Given the description of an element on the screen output the (x, y) to click on. 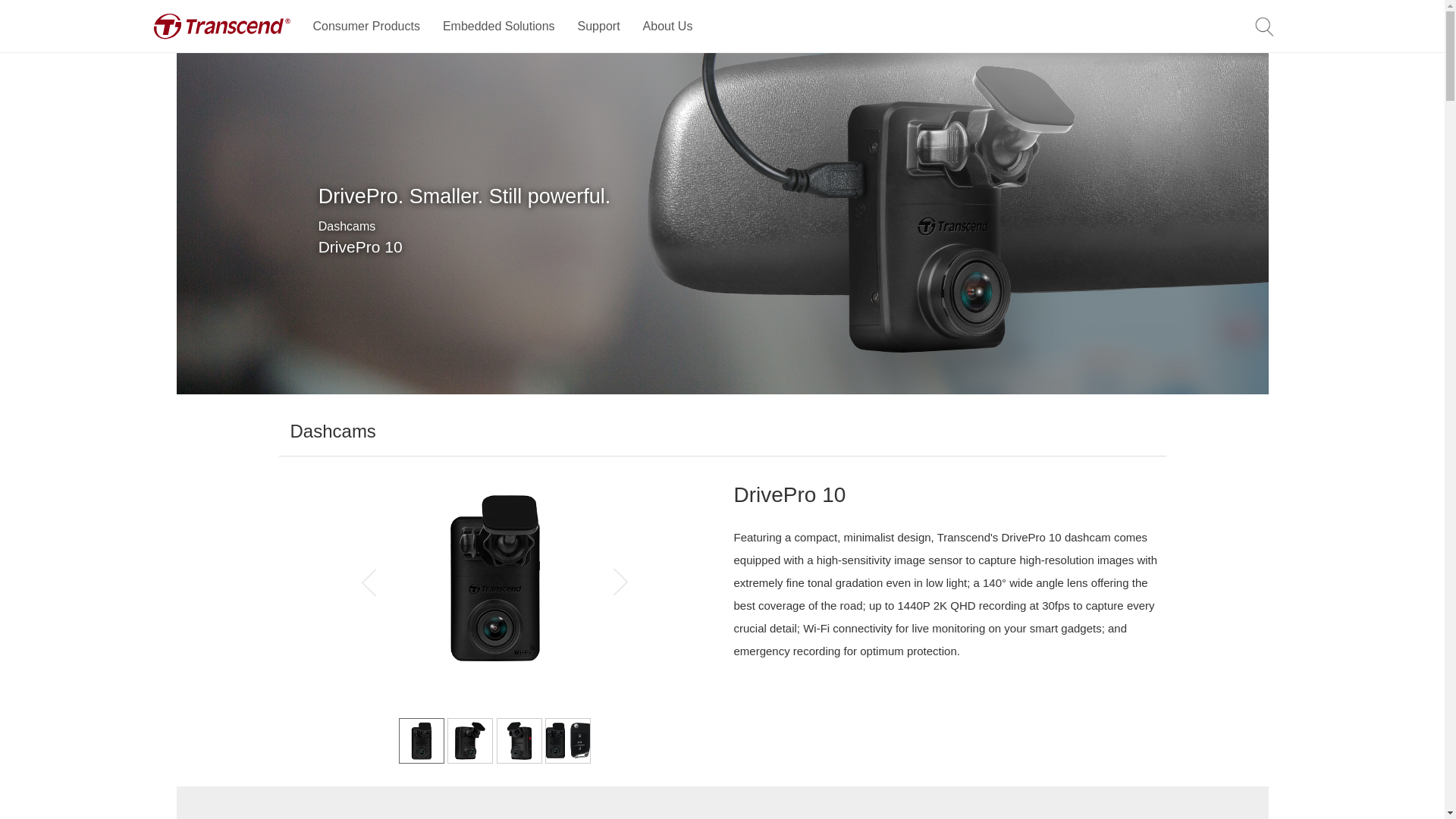
Consumer Products (365, 26)
